Given the description of an element on the screen output the (x, y) to click on. 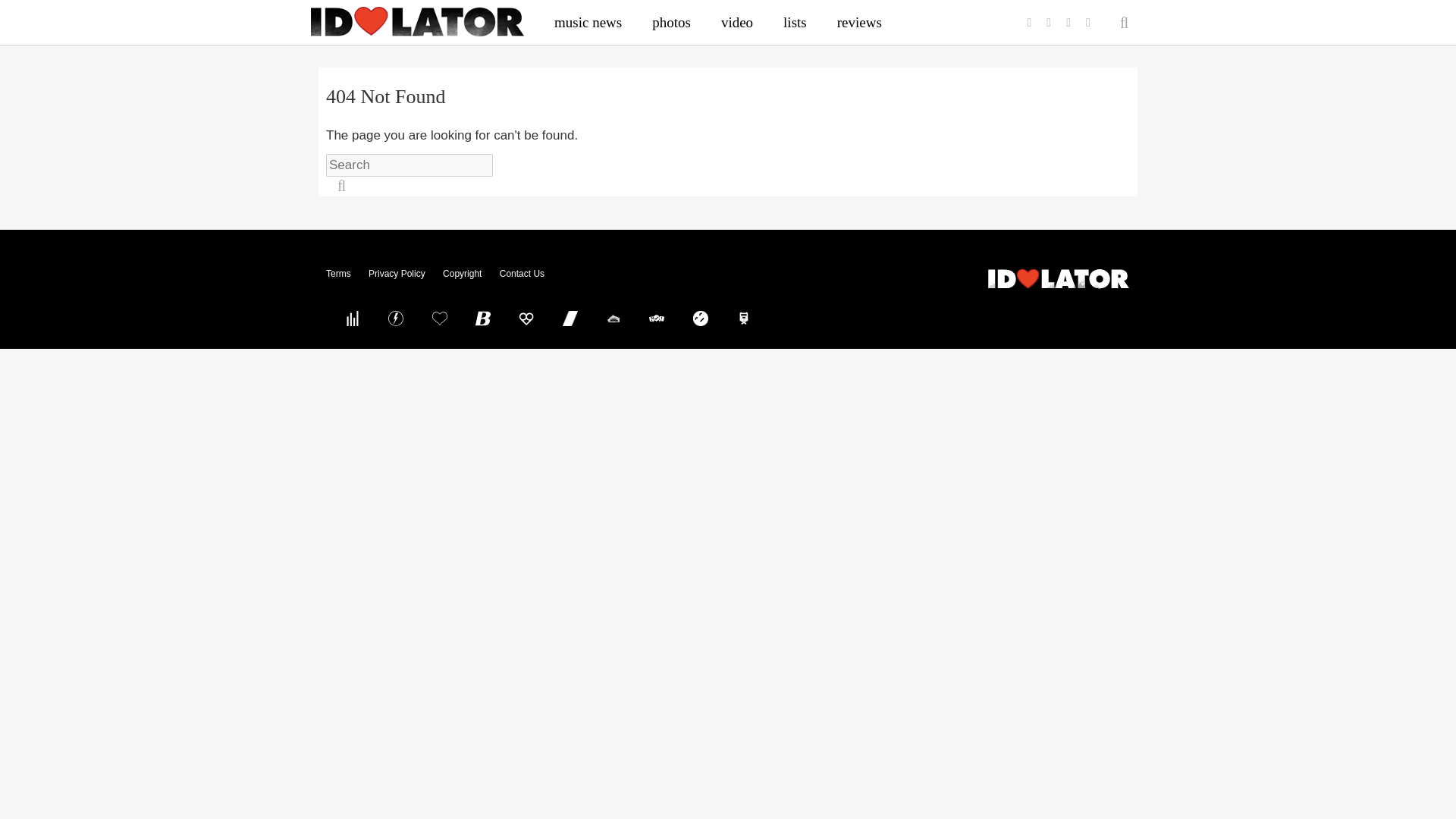
Terms (338, 273)
Privacy Policy (396, 273)
lists (795, 22)
Daily Funny (699, 318)
Hooch (526, 318)
Taco Relish (612, 318)
Pure Volume (351, 318)
Contact Us (521, 273)
reviews (859, 22)
Trend Chaser (570, 318)
photos (671, 22)
BleacherBreaker (483, 318)
music news (587, 22)
Copyright (461, 273)
Buzznet (395, 318)
